Given the description of an element on the screen output the (x, y) to click on. 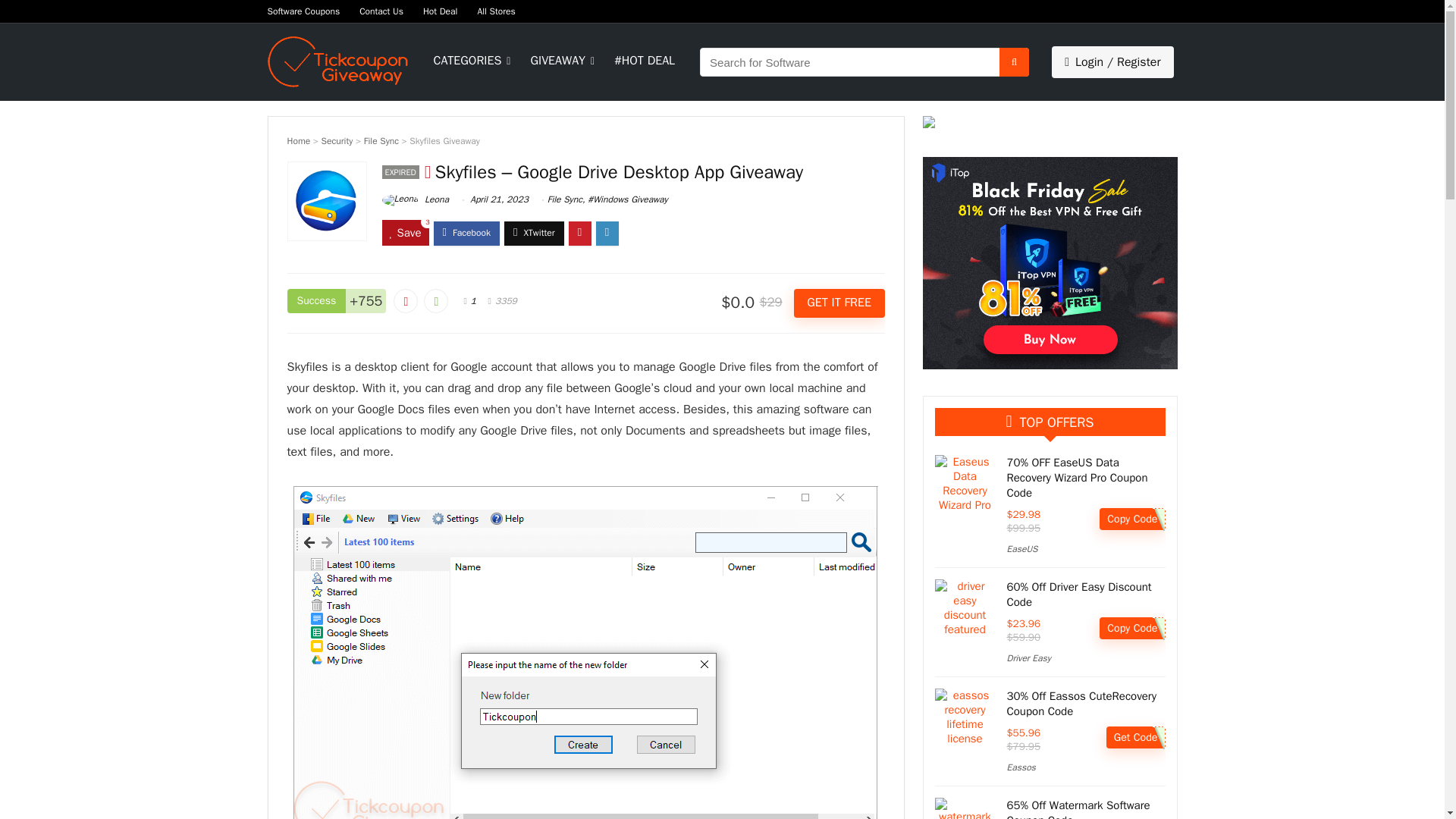
Hot Deal (440, 10)
File Sync (381, 141)
Itop black friday 2023 (1048, 263)
File Sync (564, 199)
Vote down (405, 300)
CATEGORIES (470, 61)
Security (337, 141)
View all posts in File Sync (564, 199)
Home (298, 141)
Vote up (435, 300)
All Stores (496, 10)
GET IT FREE (839, 303)
Software Coupons (302, 10)
GIVEAWAY (561, 61)
